Given the description of an element on the screen output the (x, y) to click on. 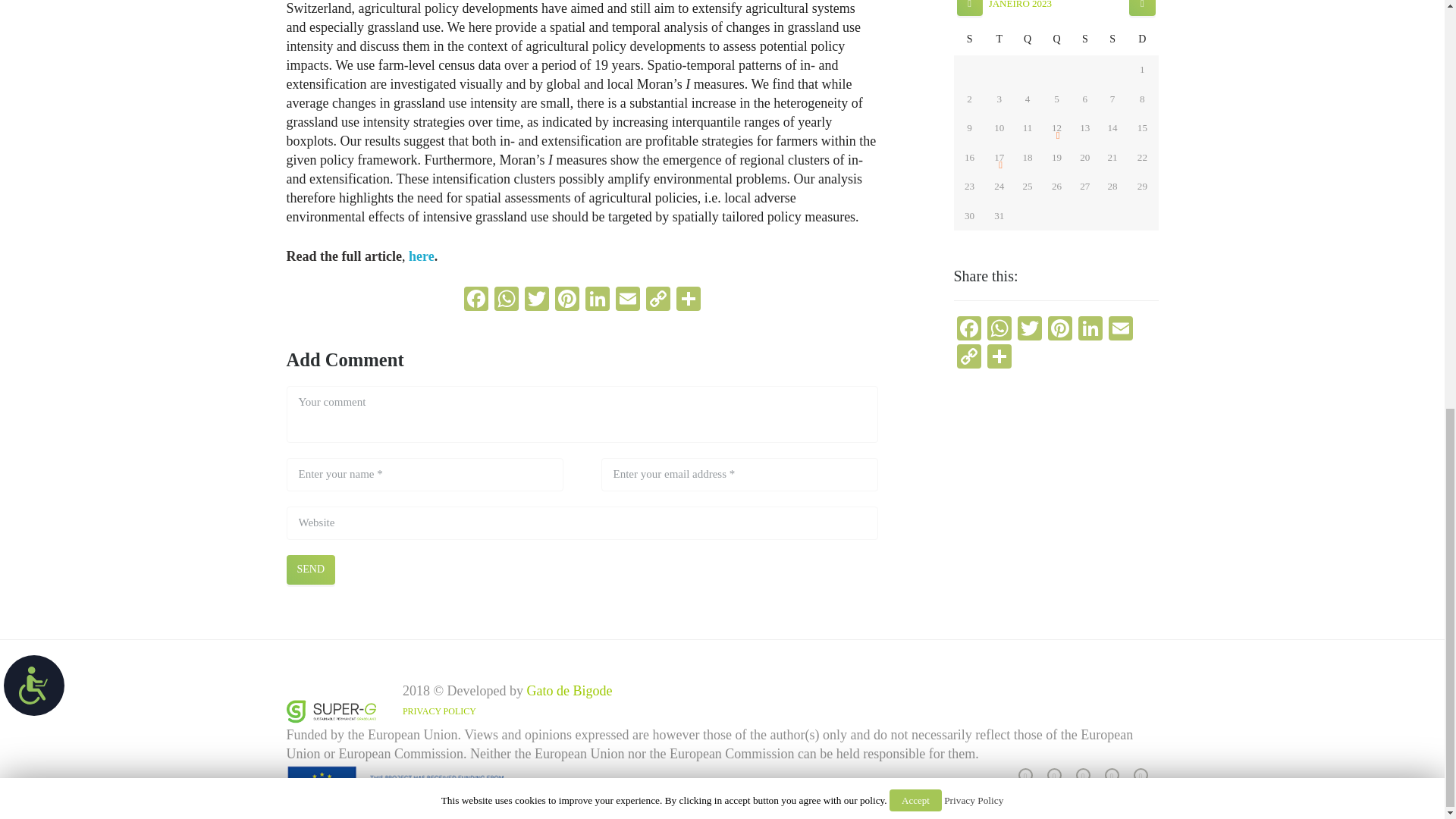
Facebook (476, 300)
Copy Link (657, 300)
WhatsApp (506, 300)
Pinterest (566, 300)
LinkedIn (597, 300)
Twitter (536, 300)
Email (627, 300)
Send (311, 569)
